Given the description of an element on the screen output the (x, y) to click on. 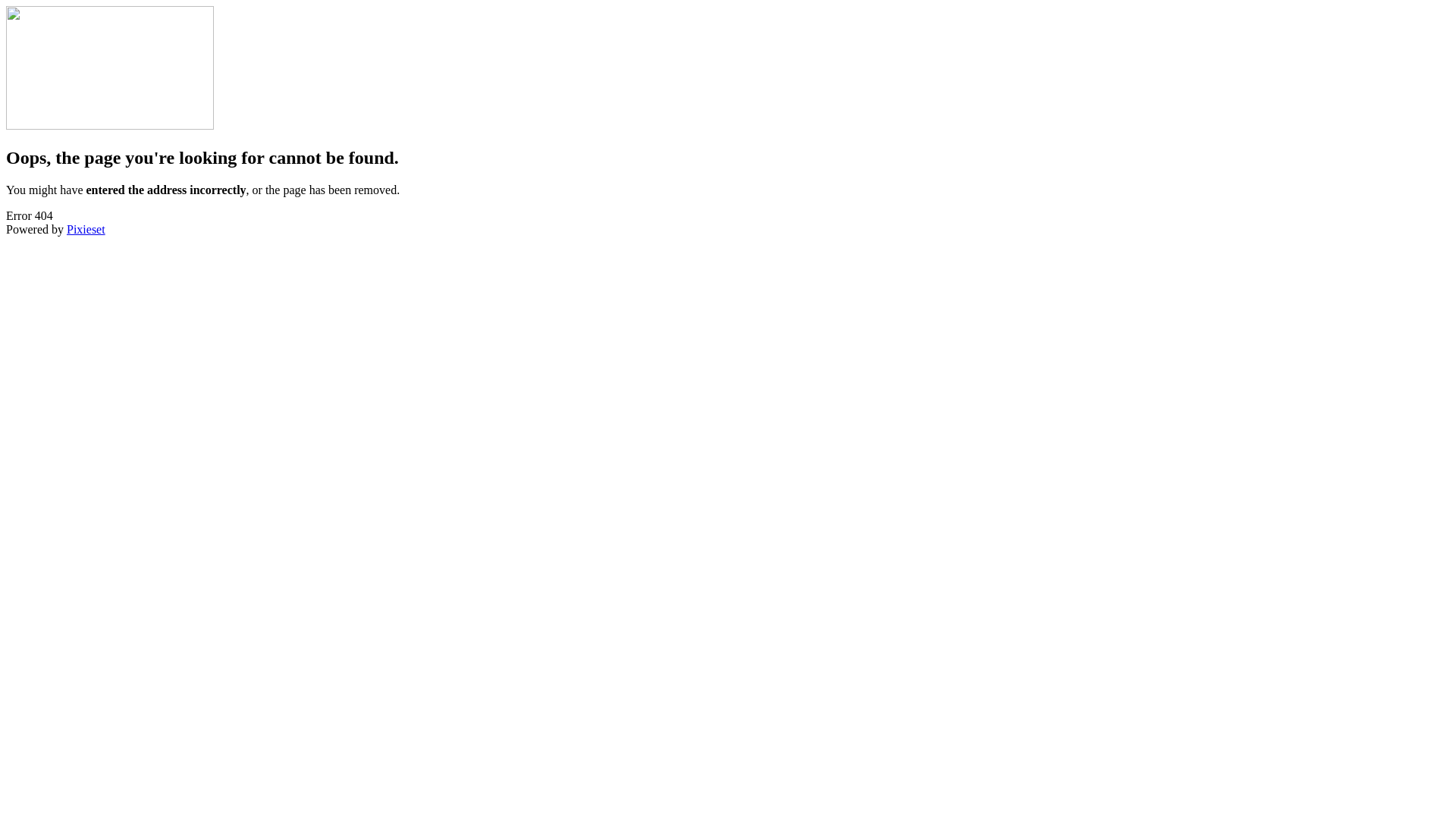
Pixieset Element type: text (85, 228)
